Given the description of an element on the screen output the (x, y) to click on. 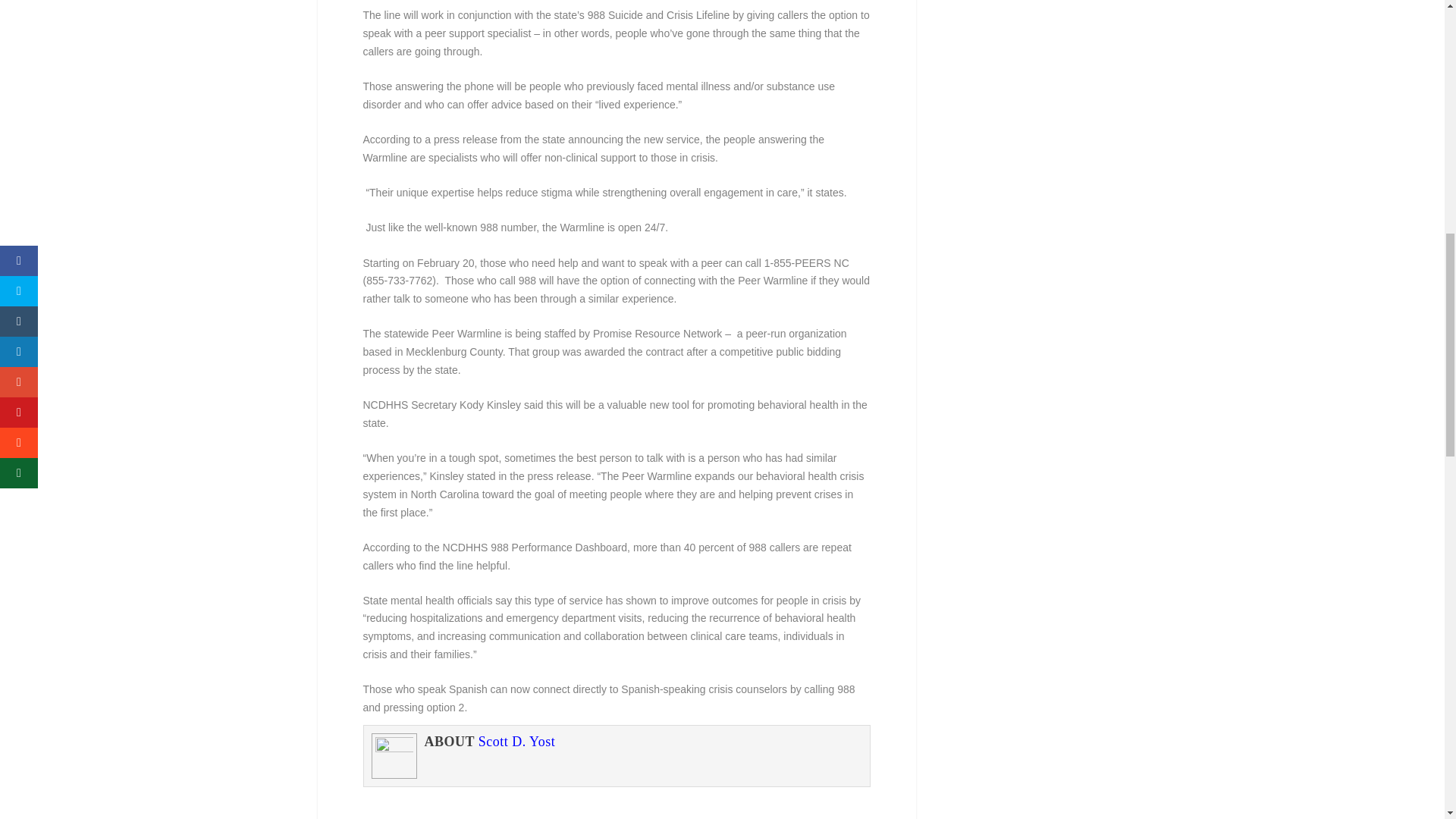
Scott D. Yost (517, 741)
